Given the description of an element on the screen output the (x, y) to click on. 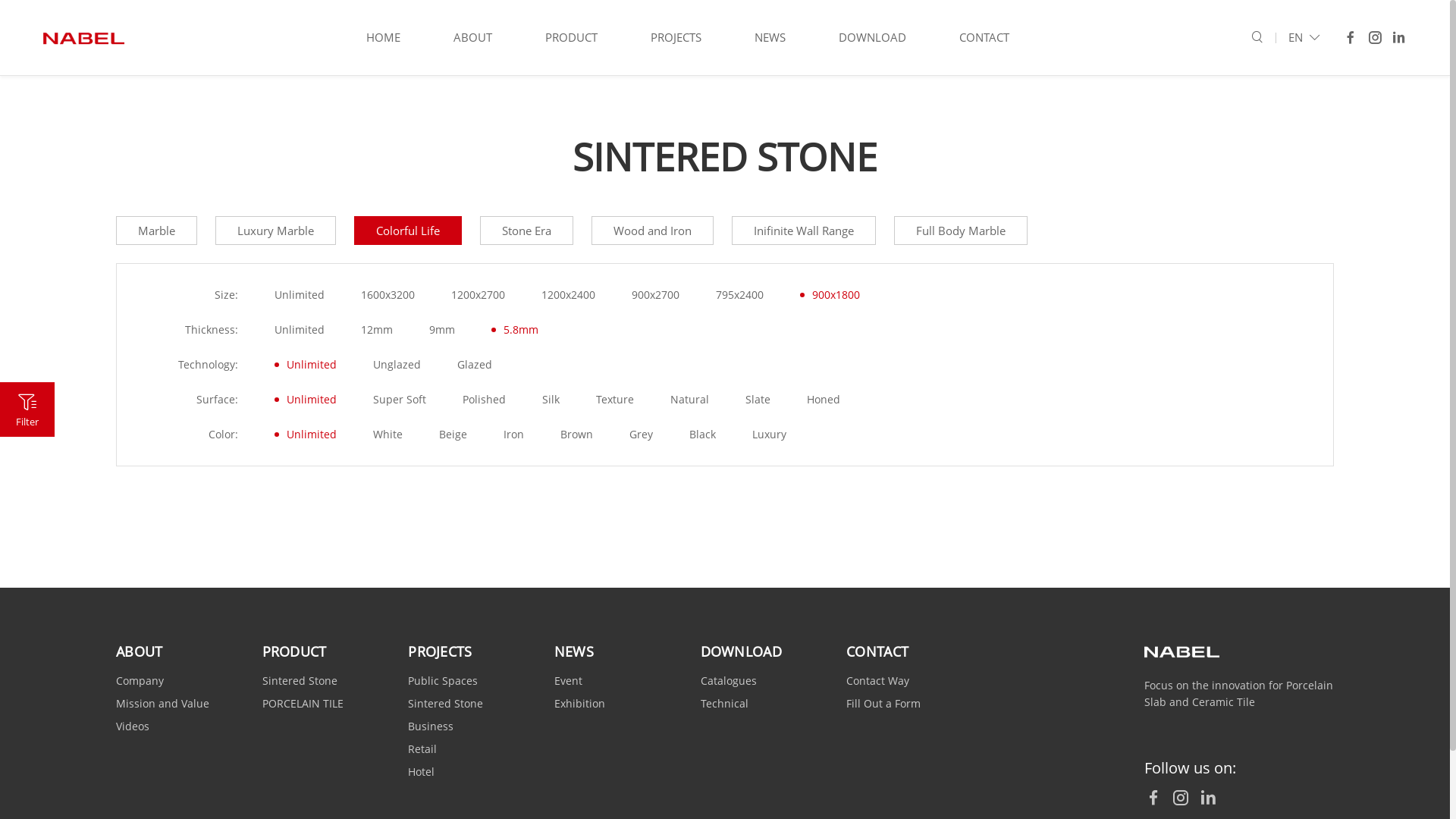
Company Element type: text (139, 680)
Mission and Value Element type: text (162, 703)
Honed Element type: text (823, 399)
Glazed Element type: text (474, 364)
1200x2400 Element type: text (568, 294)
ABOUT Element type: text (472, 37)
Luxury Element type: text (769, 434)
795x2400 Element type: text (739, 294)
Unlimited Element type: text (305, 364)
ABOUT Element type: text (139, 651)
Public Spaces Element type: text (442, 680)
CONTACT Element type: text (984, 37)
Natural Element type: text (689, 399)
Colorful Life Element type: text (407, 230)
NEWS Element type: text (769, 37)
PRODUCT Element type: text (571, 37)
Wood and Iron Element type: text (652, 230)
1600x3200 Element type: text (387, 294)
PROJECTS Element type: text (675, 37)
Super Soft Element type: text (399, 399)
Event Element type: text (568, 680)
Sintered Stone Element type: text (445, 703)
Unlimited Element type: text (299, 329)
Contact Way Element type: text (877, 680)
Brown Element type: text (576, 434)
5.8mm Element type: text (514, 329)
Silk Element type: text (550, 399)
PRODUCT Element type: text (294, 651)
DOWNLOAD Element type: text (872, 37)
Polished Element type: text (483, 399)
White Element type: text (387, 434)
Technical Element type: text (724, 703)
Unglazed Element type: text (396, 364)
Slate Element type: text (757, 399)
Hotel Element type: text (420, 771)
900x1800 Element type: text (829, 294)
Videos Element type: text (132, 725)
Unlimited Element type: text (305, 399)
PORCELAIN TILE Element type: text (302, 703)
Texture Element type: text (614, 399)
Black Element type: text (702, 434)
900x2700 Element type: text (655, 294)
Grey Element type: text (640, 434)
Stone Era Element type: text (526, 230)
9mm Element type: text (442, 329)
PROJECTS Element type: text (439, 651)
Inifinite Wall Range Element type: text (803, 230)
Business Element type: text (430, 725)
Retail Element type: text (421, 748)
NEWS Element type: text (573, 651)
12mm Element type: text (376, 329)
Luxury Marble Element type: text (275, 230)
Sintered Stone Element type: text (299, 680)
Fill Out a Form Element type: text (883, 703)
Unlimited Element type: text (305, 434)
Marble Element type: text (156, 230)
Catalogues Element type: text (728, 680)
Exhibition Element type: text (579, 703)
1200x2700 Element type: text (478, 294)
Beige Element type: text (453, 434)
Iron Element type: text (513, 434)
Unlimited Element type: text (299, 294)
Full Body Marble Element type: text (960, 230)
HOME Element type: text (383, 37)
DOWNLOAD Element type: text (740, 651)
CONTACT Element type: text (877, 651)
